Given the description of an element on the screen output the (x, y) to click on. 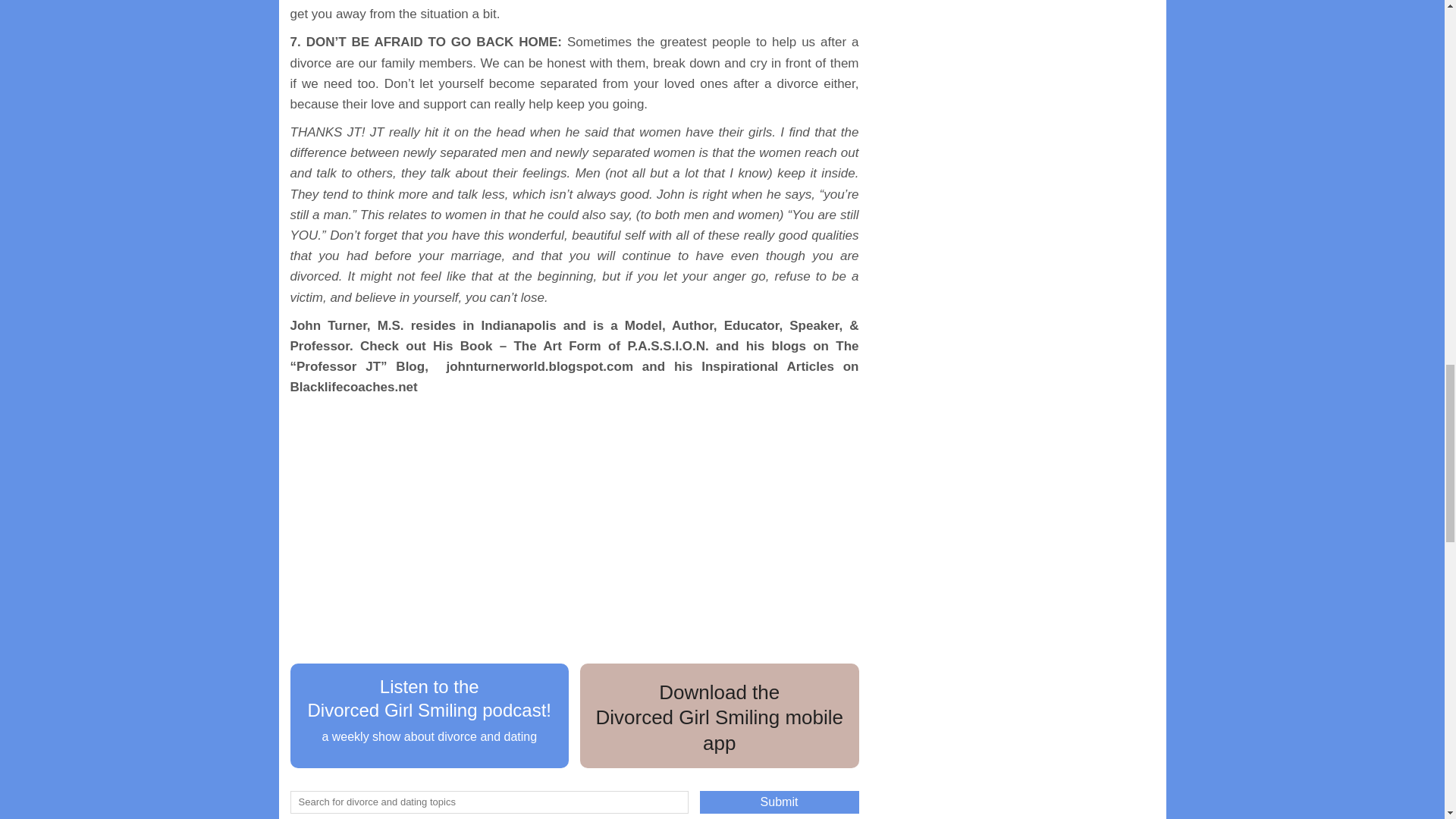
Submit (778, 802)
Submit (778, 802)
Download the Divorced Girl Smiling mobile app (719, 715)
